Given the description of an element on the screen output the (x, y) to click on. 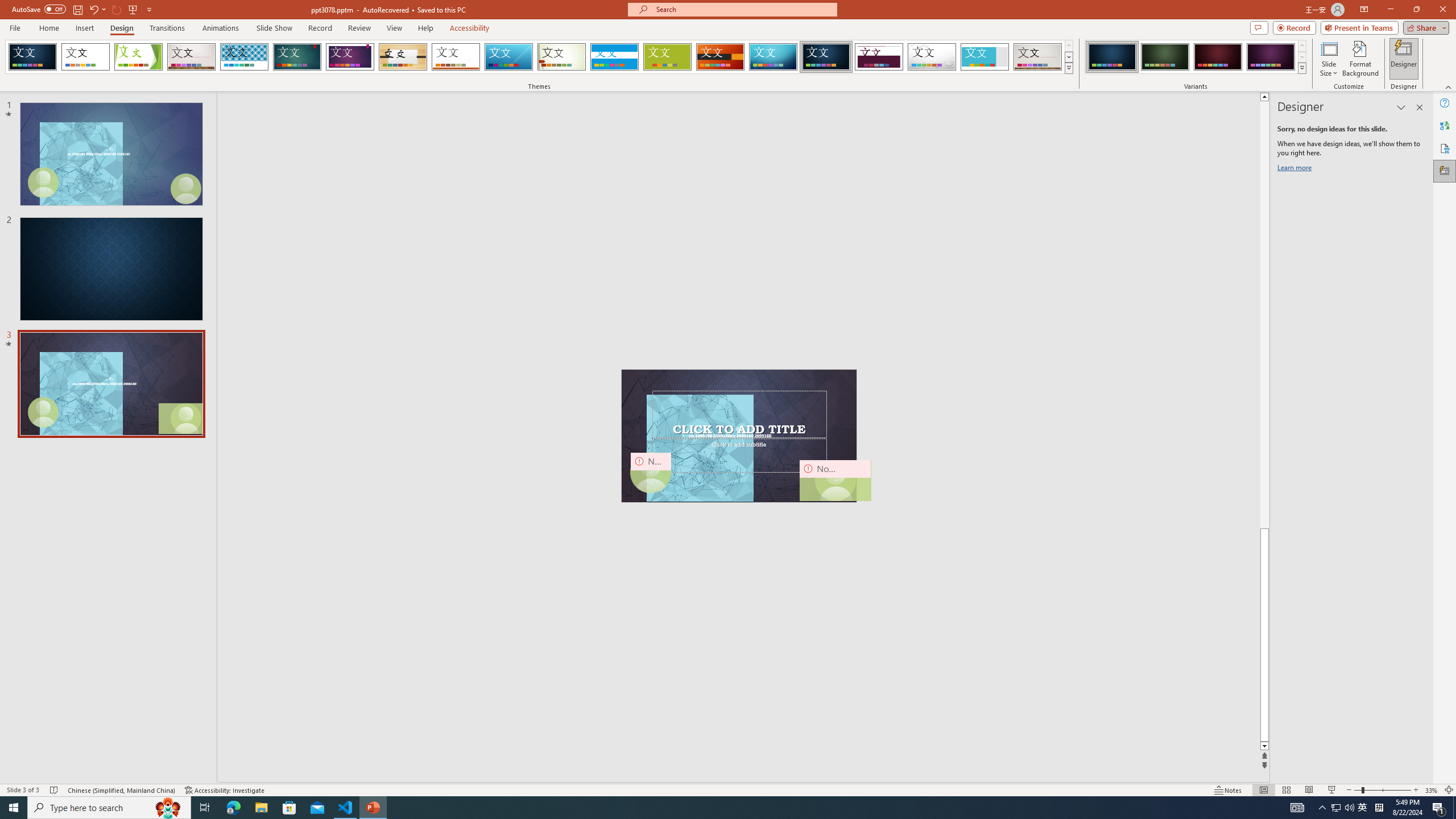
Basis (667, 56)
Facet (138, 56)
Gallery (1037, 56)
Banded (614, 56)
Format Background (1360, 58)
Wisp (561, 56)
Retrospect (455, 56)
Dividend (879, 56)
Slice (508, 56)
